Given the description of an element on the screen output the (x, y) to click on. 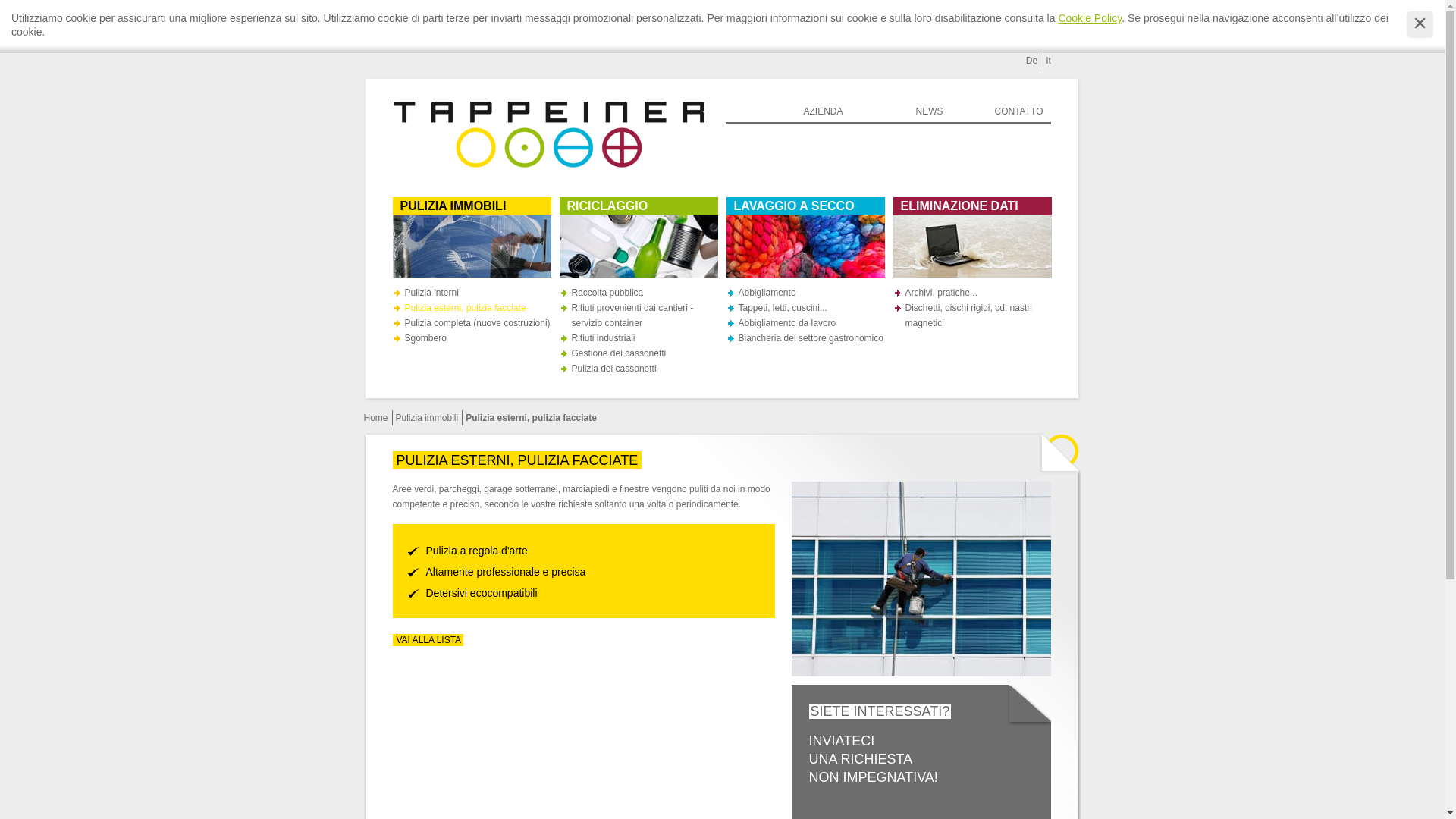
Rifiuti industriali Element type: text (603, 337)
Archivi, pratiche... Element type: text (941, 292)
Abbigliamento Element type: text (767, 292)
LAVAGGIO A SECCO Element type: text (805, 205)
Home Element type: text (376, 417)
Raccolta pubblica Element type: text (607, 292)
Abbigliamento da lavoro Element type: text (787, 322)
PULIZIA IMMOBILI Element type: text (471, 205)
Pulizia completa (nuove costruzioni) Element type: text (477, 322)
Gestione dei cassonetti Element type: text (618, 353)
Pulizia dei cassonetti Element type: text (613, 368)
Biancheria del settore gastronomico Element type: text (810, 337)
Cookie Policy Element type: text (1089, 18)
AZIENDA Element type: text (822, 111)
ELIMINAZIONE DATI Element type: text (972, 205)
Sgombero Element type: text (425, 337)
RICICLAGGIO Element type: text (638, 205)
Pulizia esterni, pulizia facciate Element type: text (465, 307)
De Element type: text (1031, 60)
Pulizia immobili Element type: text (426, 417)
Rifiuti provenienti dai cantieri - servizio container Element type: text (632, 315)
Pulizia interni Element type: text (431, 292)
CONTATTO Element type: text (1019, 111)
NEWS Element type: text (929, 111)
VAI ALLA LISTA Element type: text (428, 639)
Dischetti, dischi rigidi, cd, nastri magnetici Element type: text (968, 315)
It Element type: text (1048, 60)
Tappeti, letti, cuscini... Element type: text (782, 307)
